Given the description of an element on the screen output the (x, y) to click on. 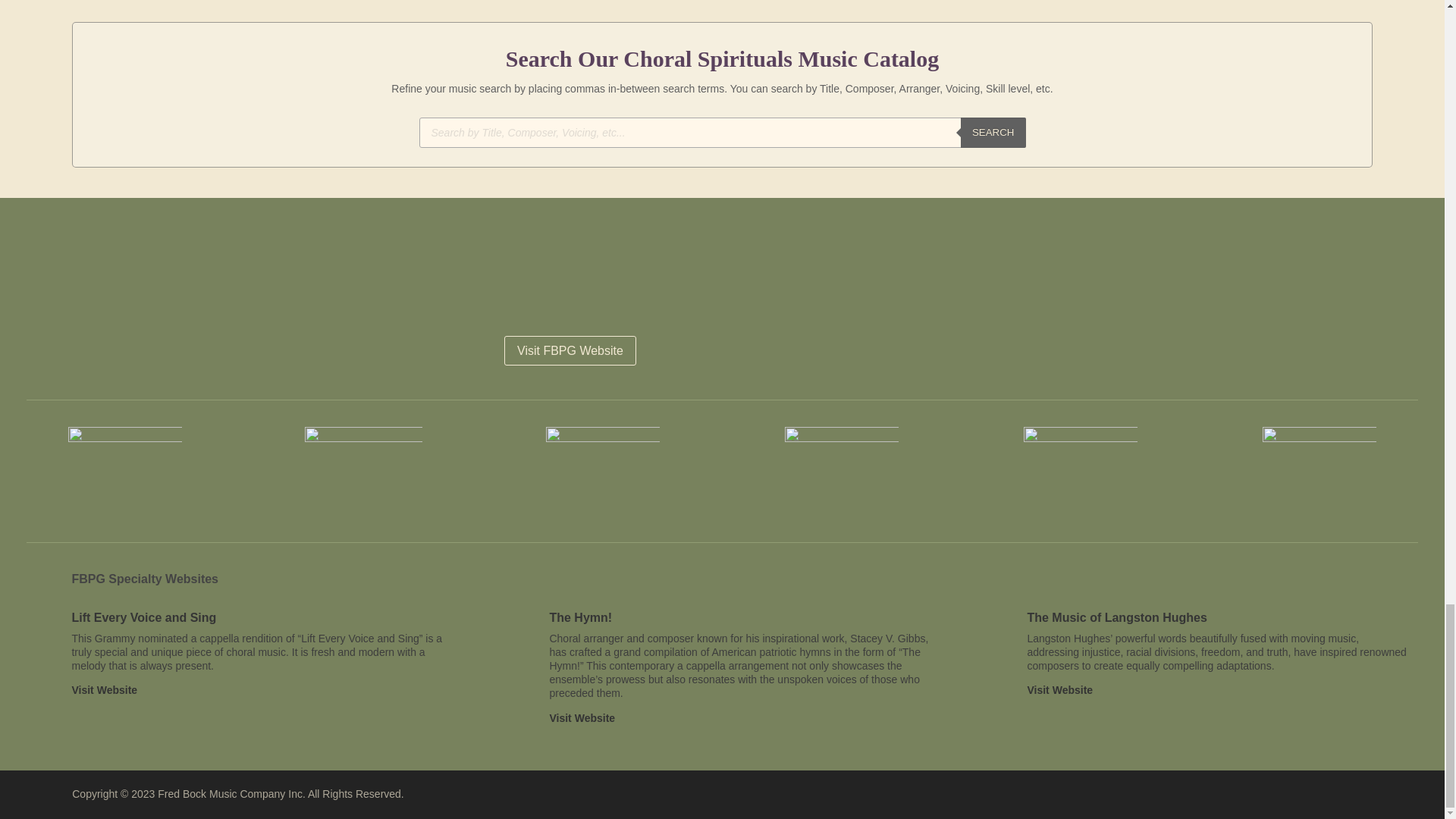
National-Music-Publishers (1080, 469)
Hinshaw-Music (125, 469)
Epiphany-House (1318, 469)
Bock (841, 469)
Gentry-Publications (363, 470)
Jubal-House (602, 469)
